Given the description of an element on the screen output the (x, y) to click on. 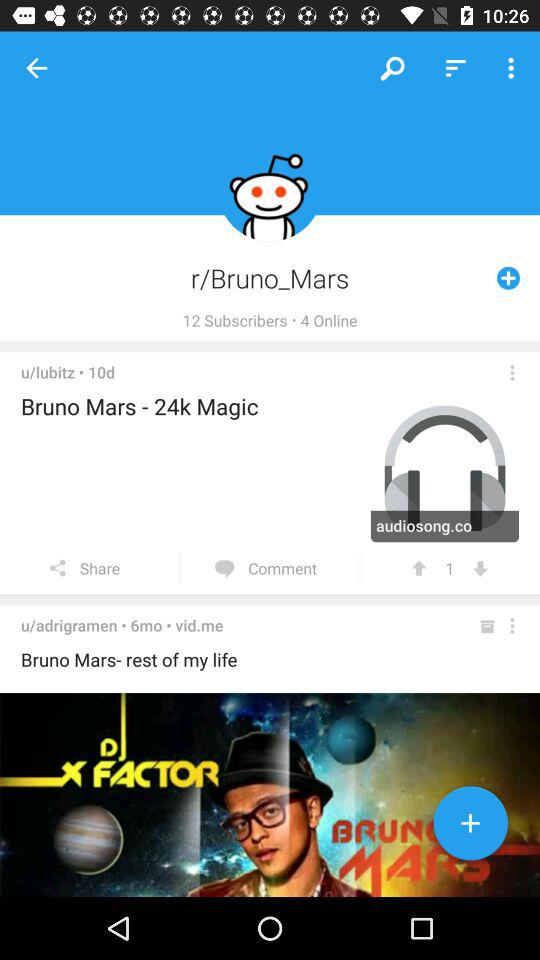
shows down icon (480, 568)
